Given the description of an element on the screen output the (x, y) to click on. 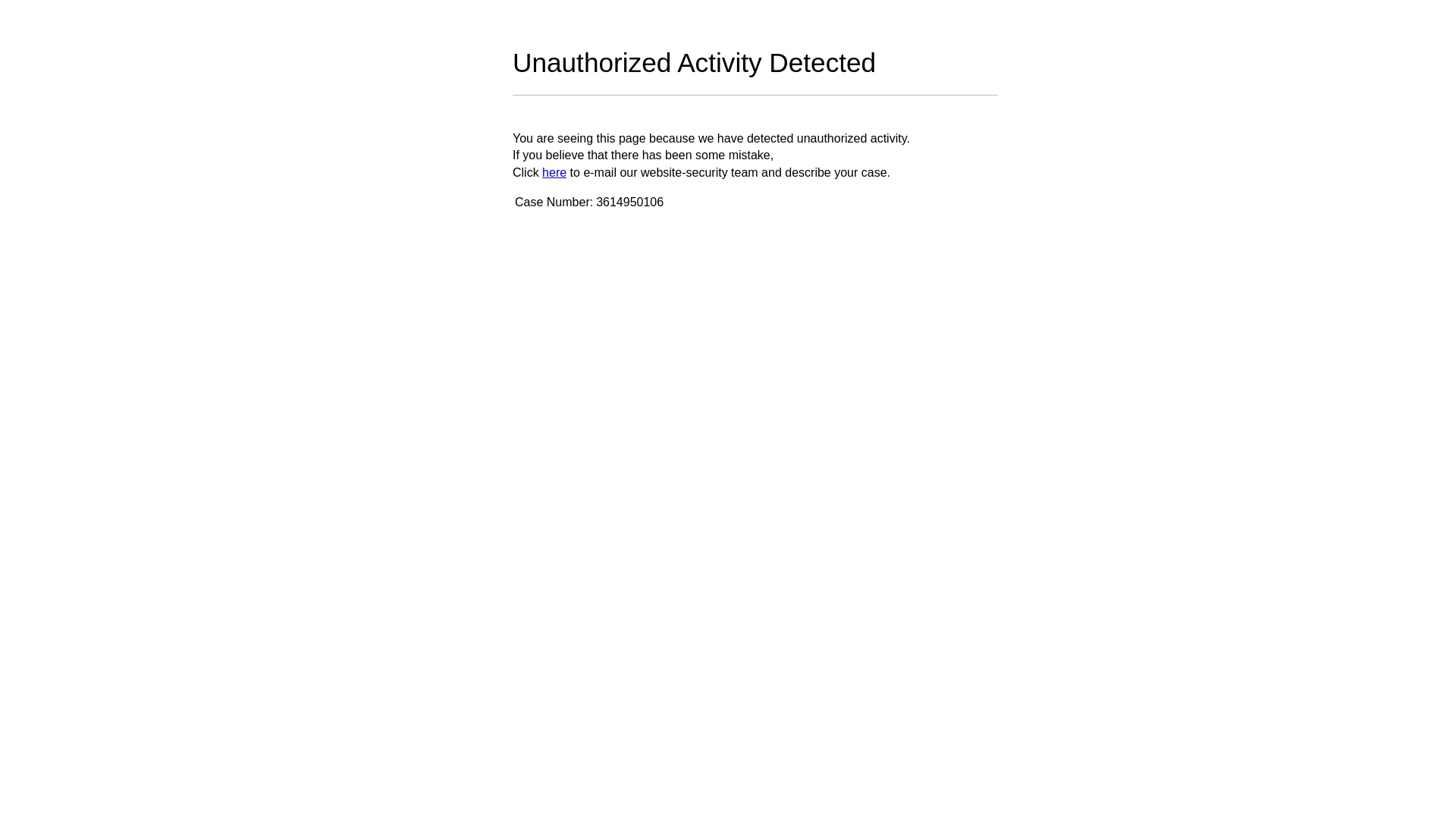
here Element type: text (554, 172)
